Given the description of an element on the screen output the (x, y) to click on. 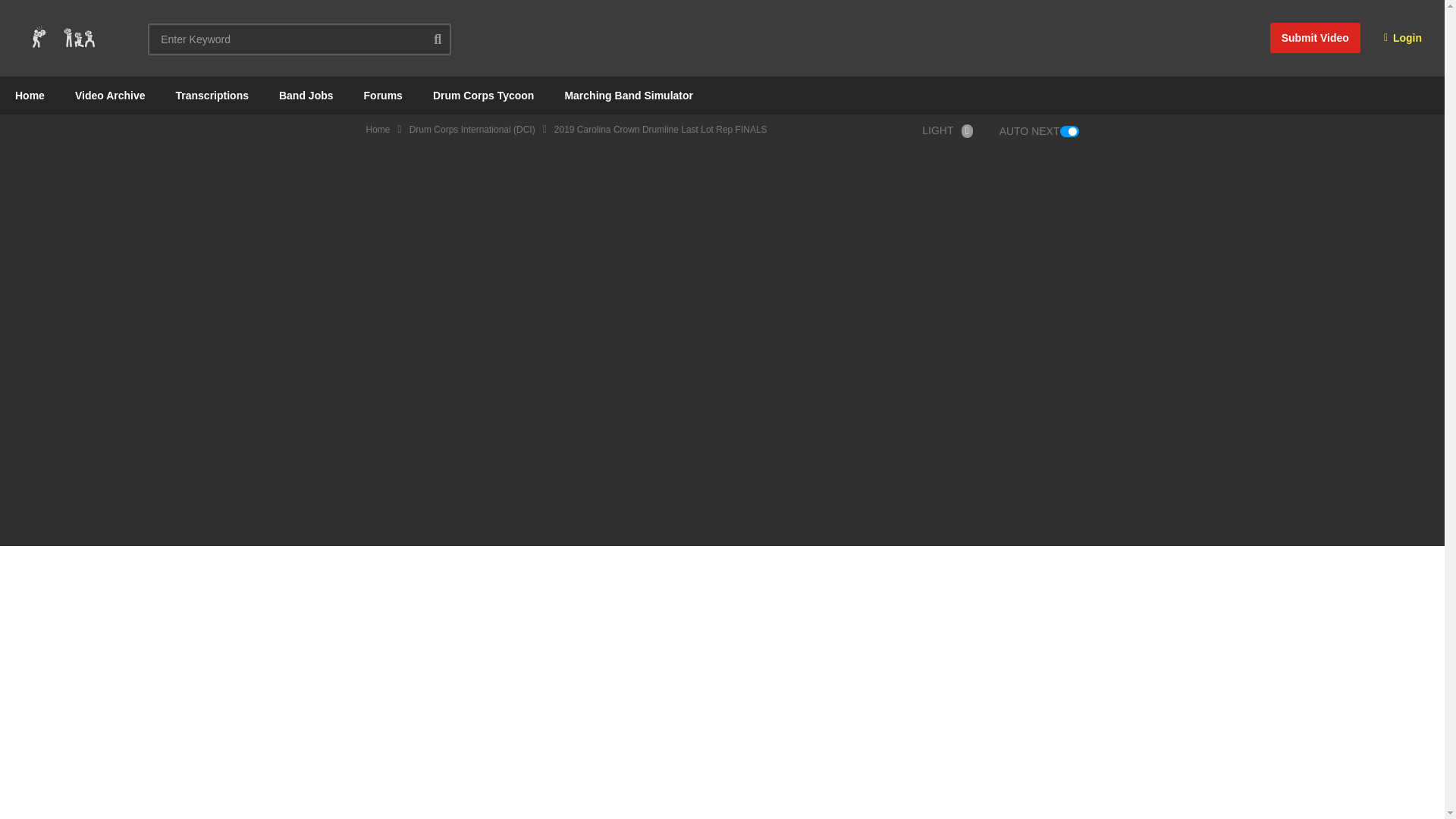
LIGHT (950, 130)
Video Archive (109, 95)
LotHype.com (62, 37)
Band Jobs (306, 95)
Home (29, 95)
 Login (1402, 38)
Home (377, 129)
Marching Band Simulator (627, 95)
Drum Corps Tycoon (483, 95)
Transcriptions (211, 95)
